Given the description of an element on the screen output the (x, y) to click on. 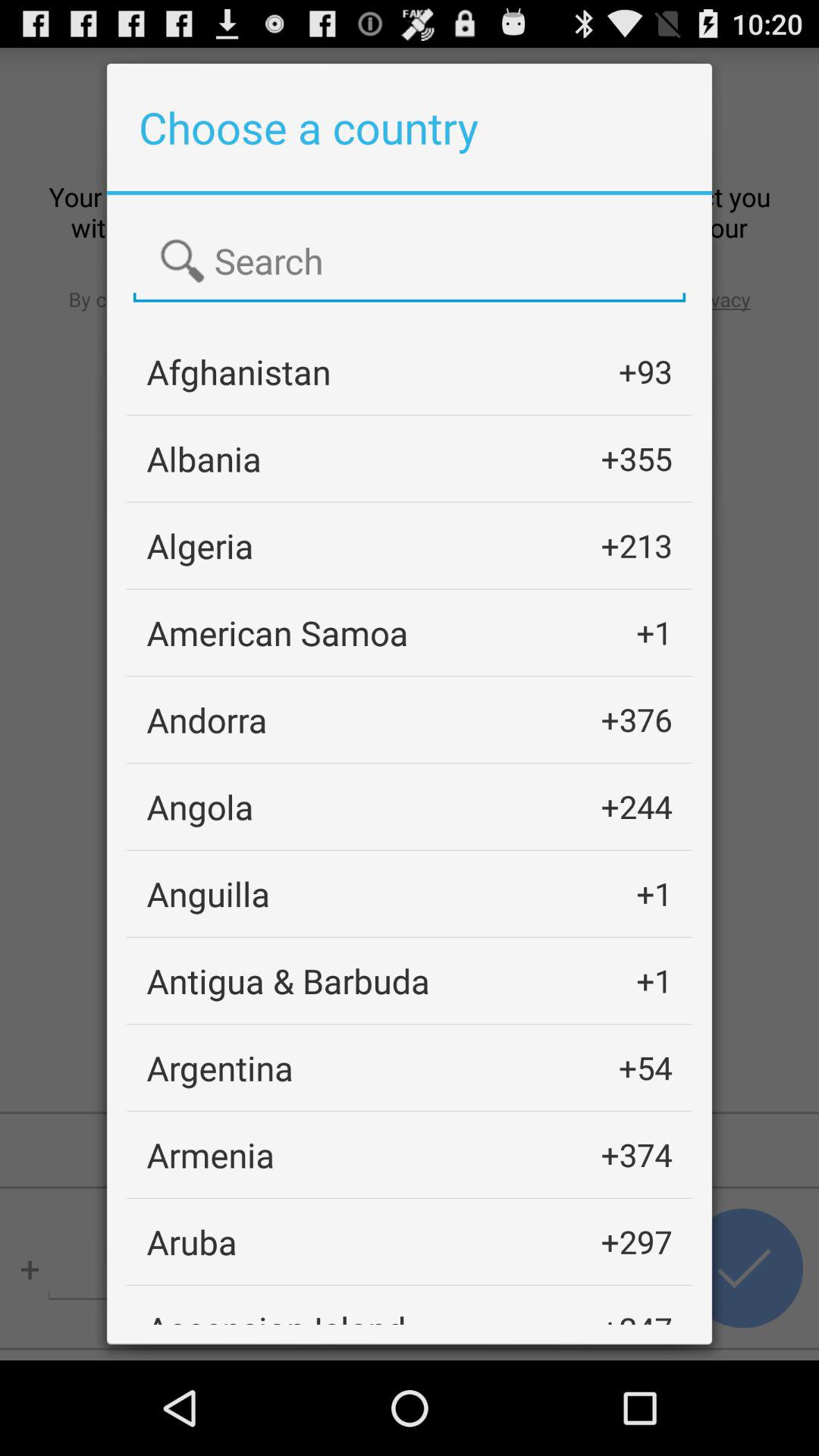
select the item below anguilla item (287, 980)
